Given the description of an element on the screen output the (x, y) to click on. 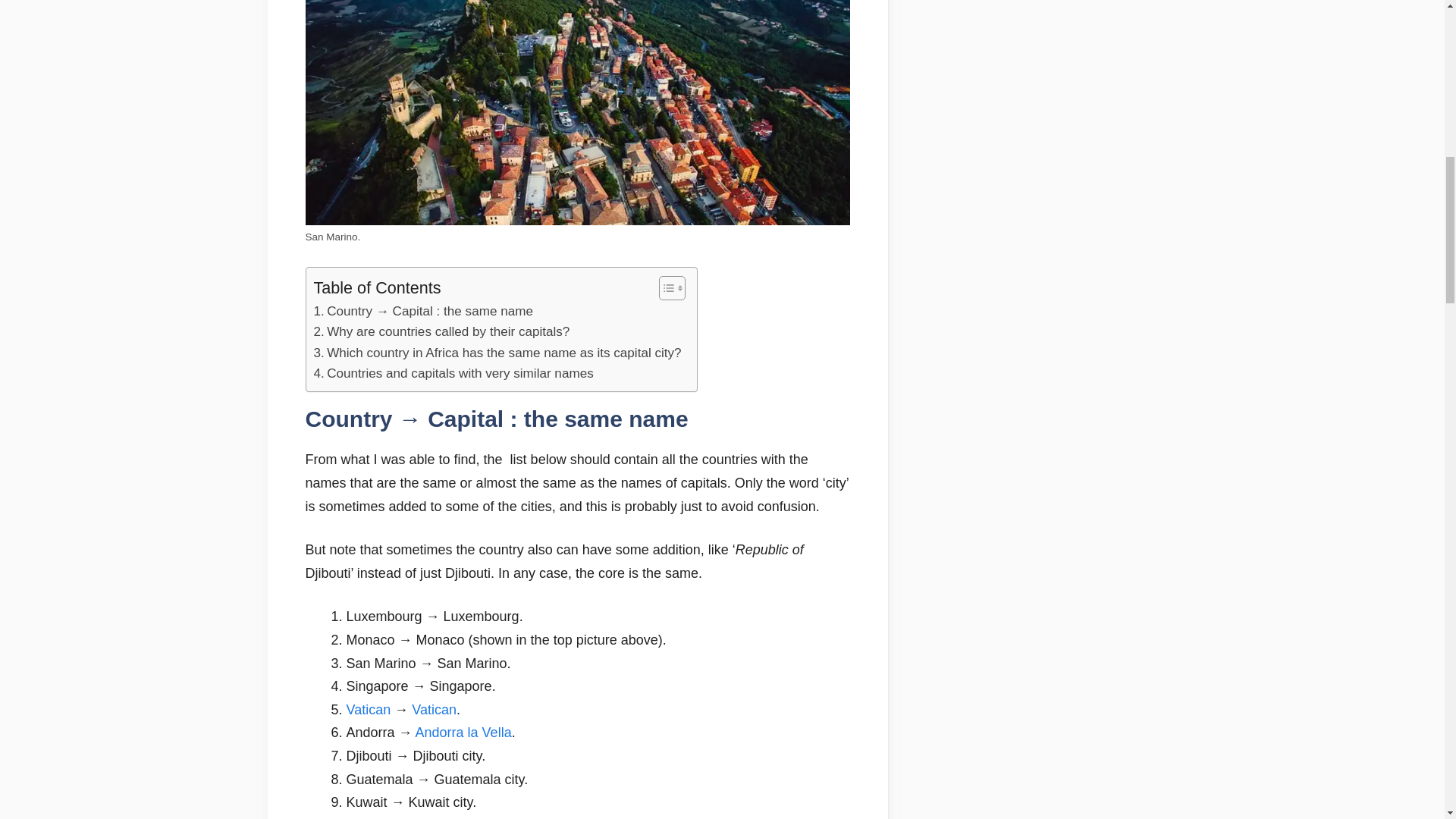
Vatican (368, 709)
Countries and capitals with very similar names (454, 373)
Why are countries called by their capitals? (442, 331)
Vatican (434, 709)
Andorra la Vella (463, 732)
Countries and capitals with very similar names (454, 373)
Why are countries called by their capitals? (442, 331)
